Given the description of an element on the screen output the (x, y) to click on. 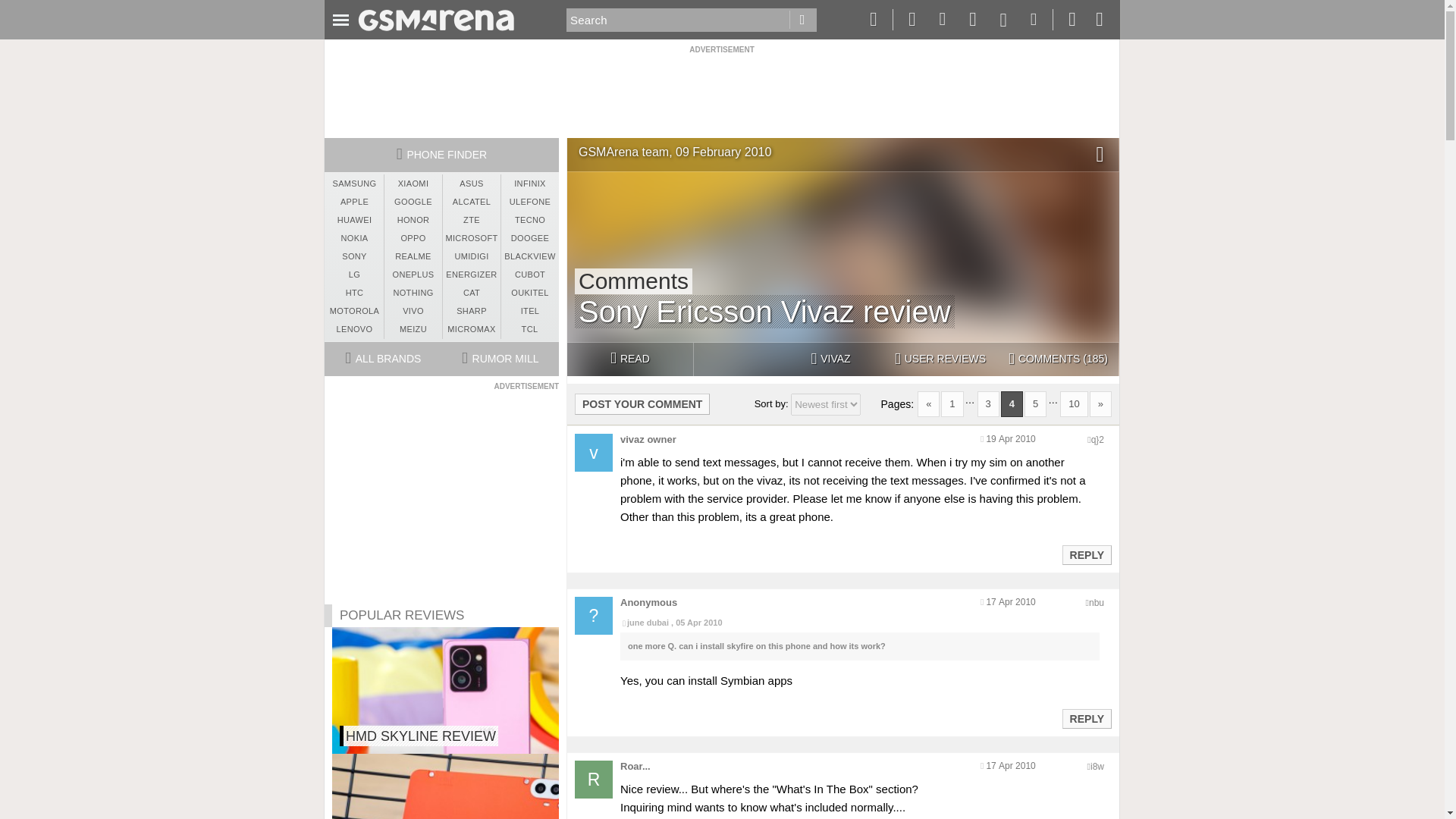
POST YOUR COMMENT (642, 403)
Reply to this post (1086, 718)
Encoded anonymized location (1096, 602)
Go (802, 19)
READ (630, 359)
Encoded anonymized location (1096, 766)
Encoded anonymized location (1096, 439)
Reply to this post (1086, 554)
Sort comments by (825, 404)
VIVAZ (830, 359)
